Given the description of an element on the screen output the (x, y) to click on. 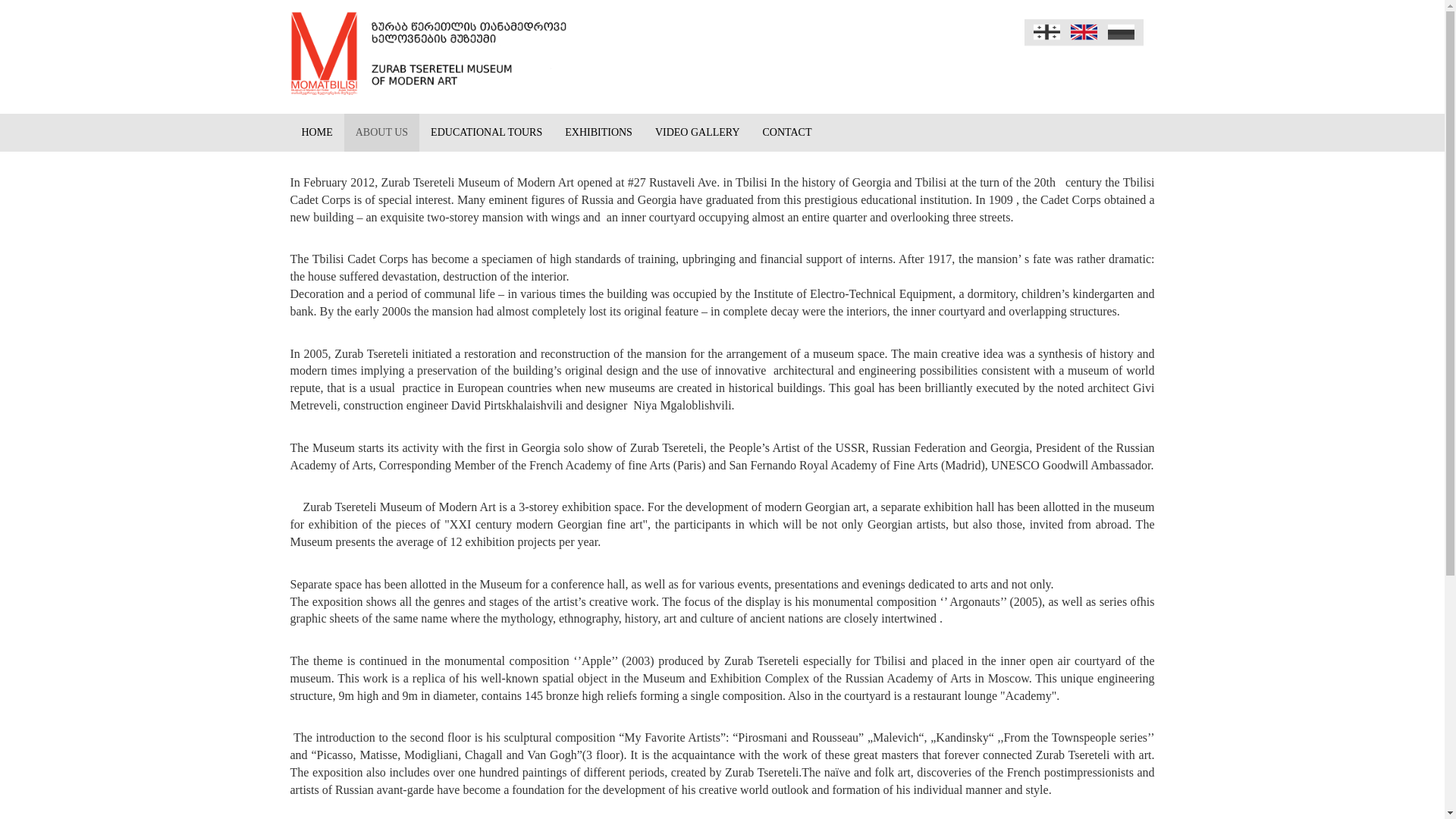
ABOUT US (381, 132)
VIDEO GALLERY (697, 132)
EXHIBITIONS (598, 132)
CONTACT (787, 132)
HOME (316, 132)
EDUCATIONAL TOURS (486, 132)
